Given the description of an element on the screen output the (x, y) to click on. 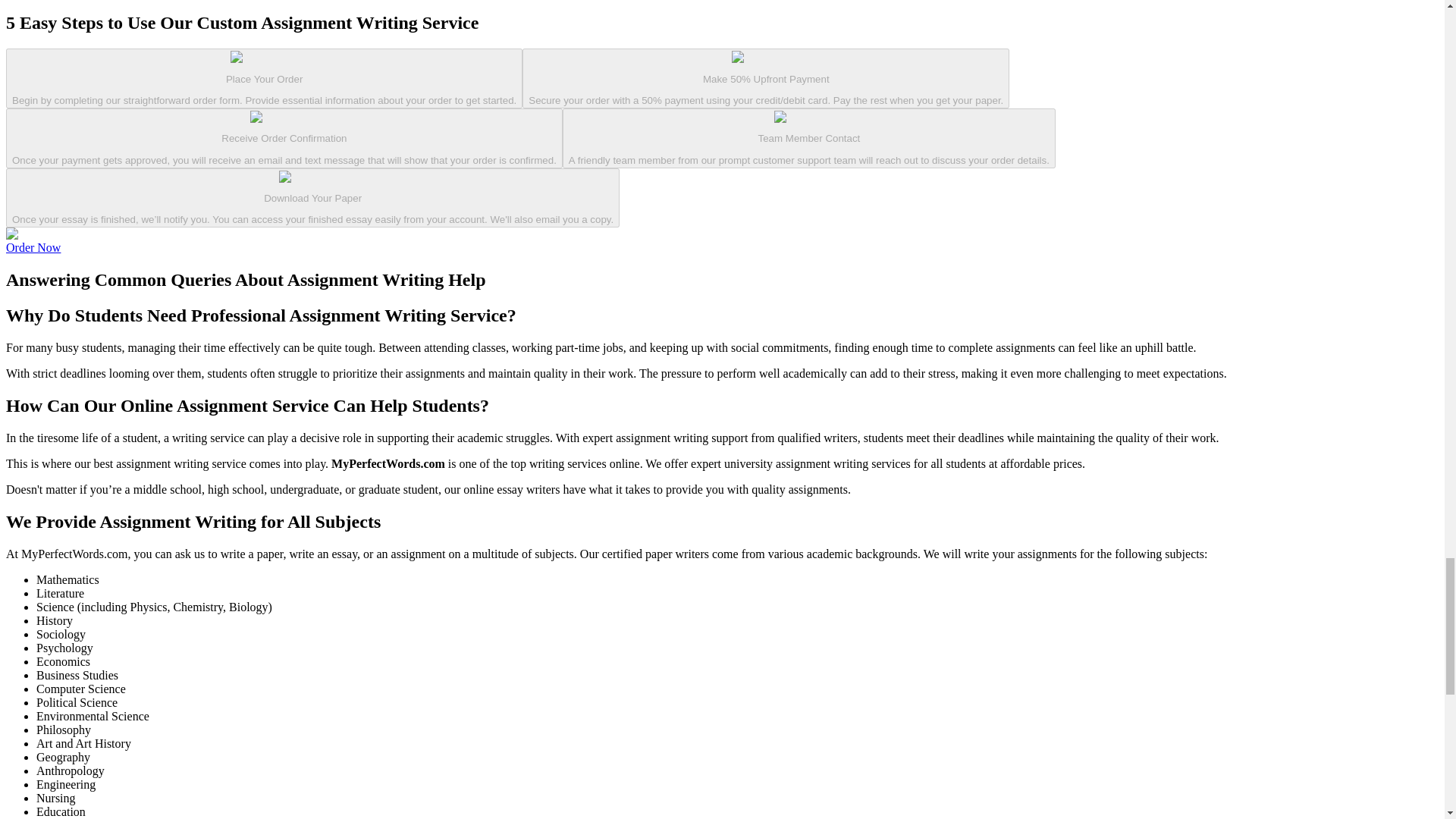
Order Now (33, 246)
